Given the description of an element on the screen output the (x, y) to click on. 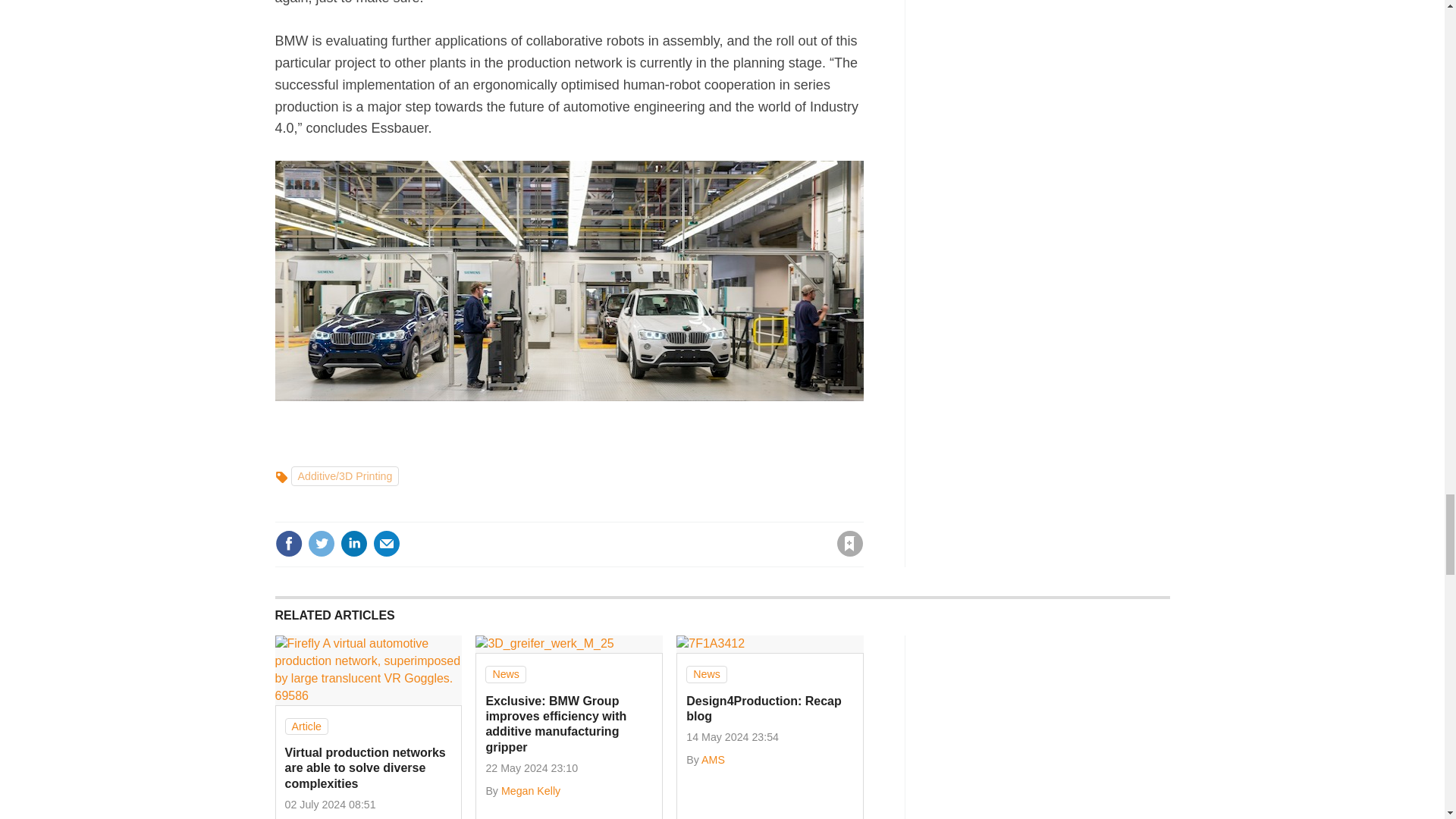
Email this article (386, 543)
Share this on Facebook (288, 543)
Share this on Linked in (352, 543)
Share this on Twitter (320, 543)
